Given the description of an element on the screen output the (x, y) to click on. 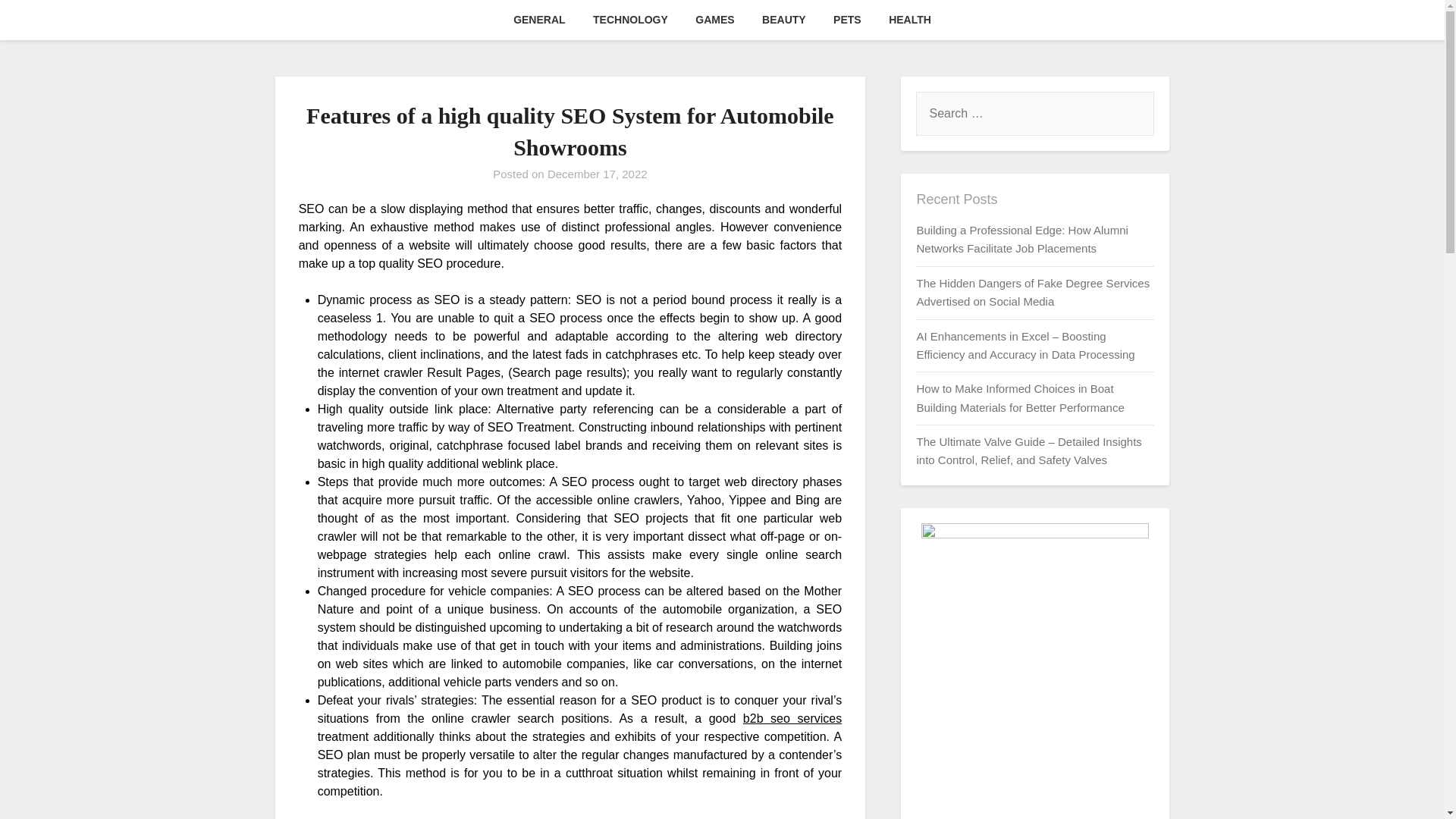
PETS (847, 20)
HEALTH (909, 20)
BEAUTY (783, 20)
Search (37, 22)
GENERAL (538, 20)
TECHNOLOGY (629, 20)
December 17, 2022 (597, 173)
